Given the description of an element on the screen output the (x, y) to click on. 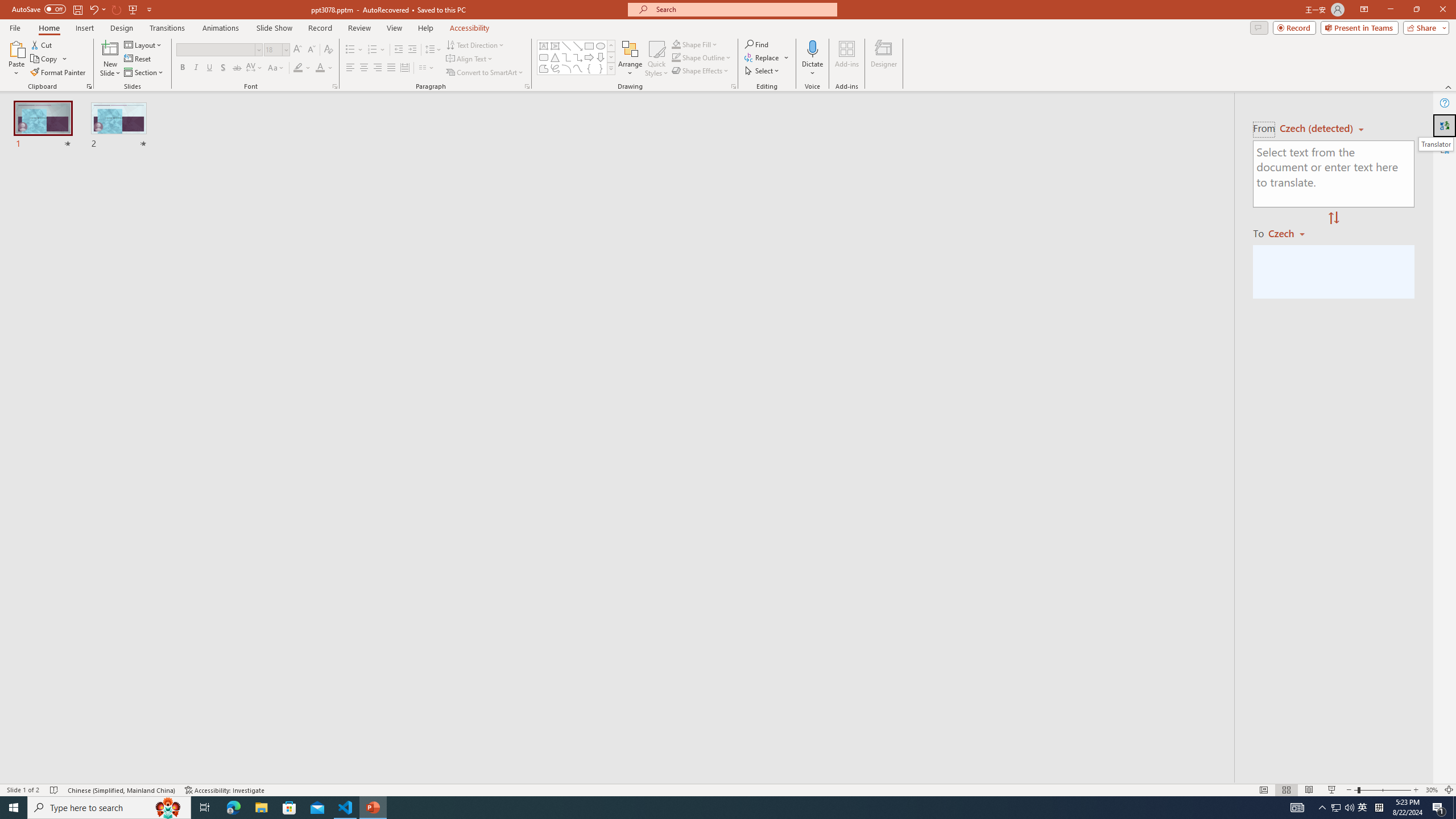
Columns (426, 67)
AutomationID: ShapesInsertGallery (576, 57)
Redo (117, 9)
Numbering (372, 49)
Oval (600, 45)
Section (144, 72)
Font... (334, 85)
Line (566, 45)
Shape Effects (700, 69)
Numbering (376, 49)
Quick Access Toolbar (82, 9)
Align Right (377, 67)
Arrow: Right (589, 57)
Italic (195, 67)
